Given the description of an element on the screen output the (x, y) to click on. 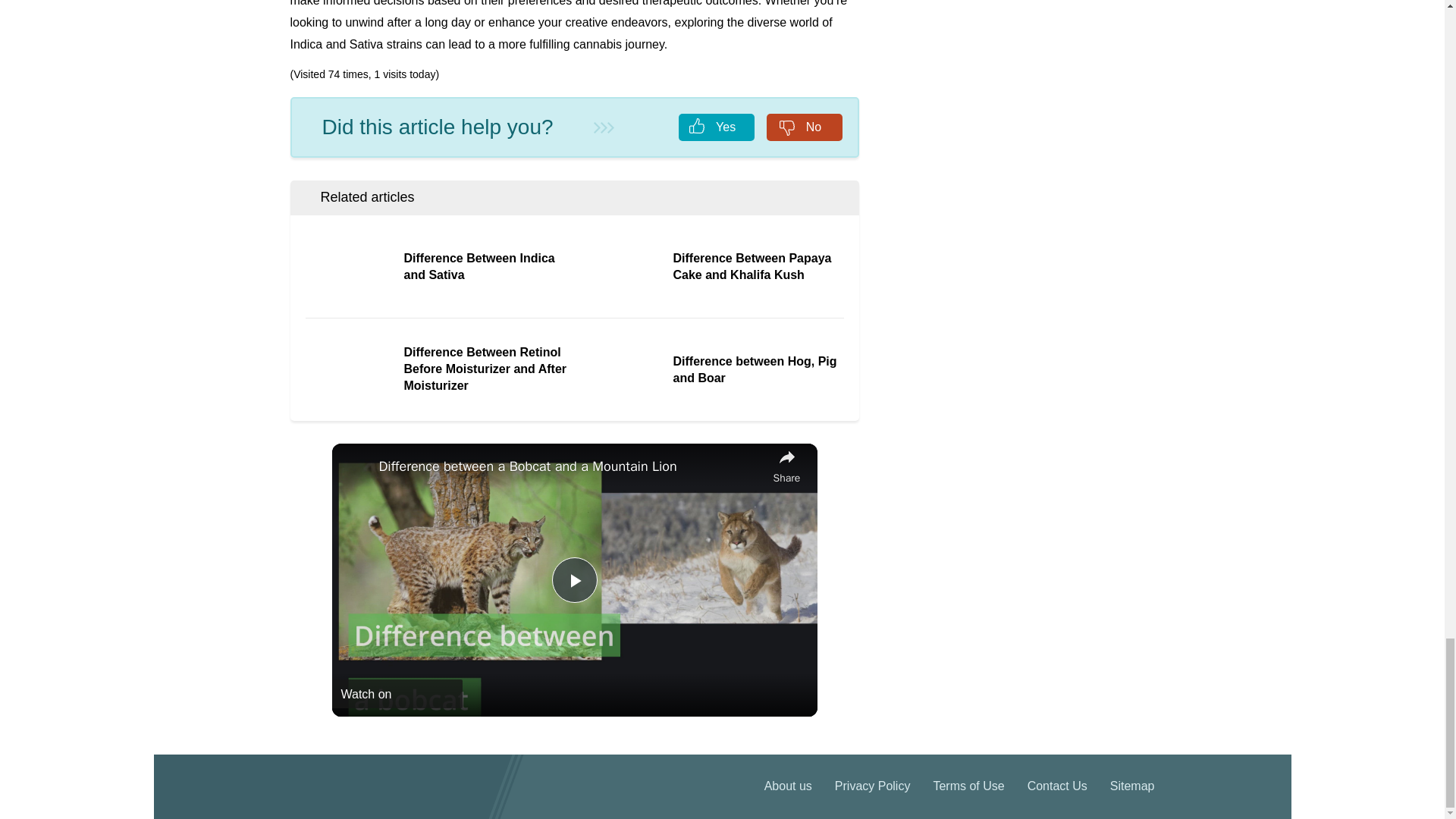
Difference Between Papaya Cake and Khalifa Kush (709, 266)
Difference between Hog, Pig and Boar (709, 369)
Difference Between Indica and Sativa (438, 266)
Play Video (573, 579)
